Given the description of an element on the screen output the (x, y) to click on. 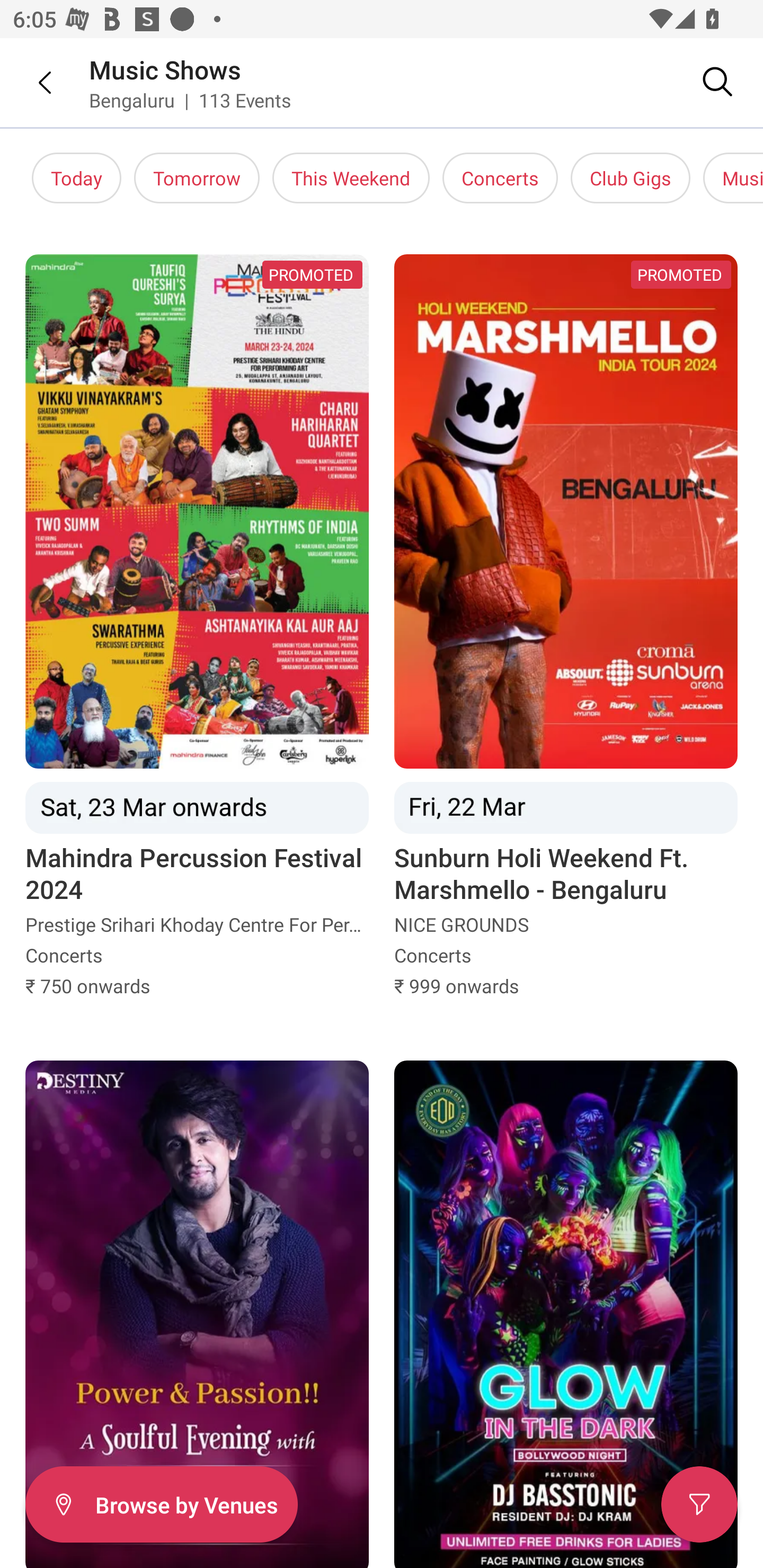
Back (31, 82)
Music Shows (165, 68)
Bengaluru  |  113 Events (190, 99)
Today (76, 177)
Tomorrow (196, 177)
This Weekend (350, 177)
Concerts (499, 177)
Club Gigs (630, 177)
Filter Browse by Venues (161, 1504)
Filter (699, 1504)
